Given the description of an element on the screen output the (x, y) to click on. 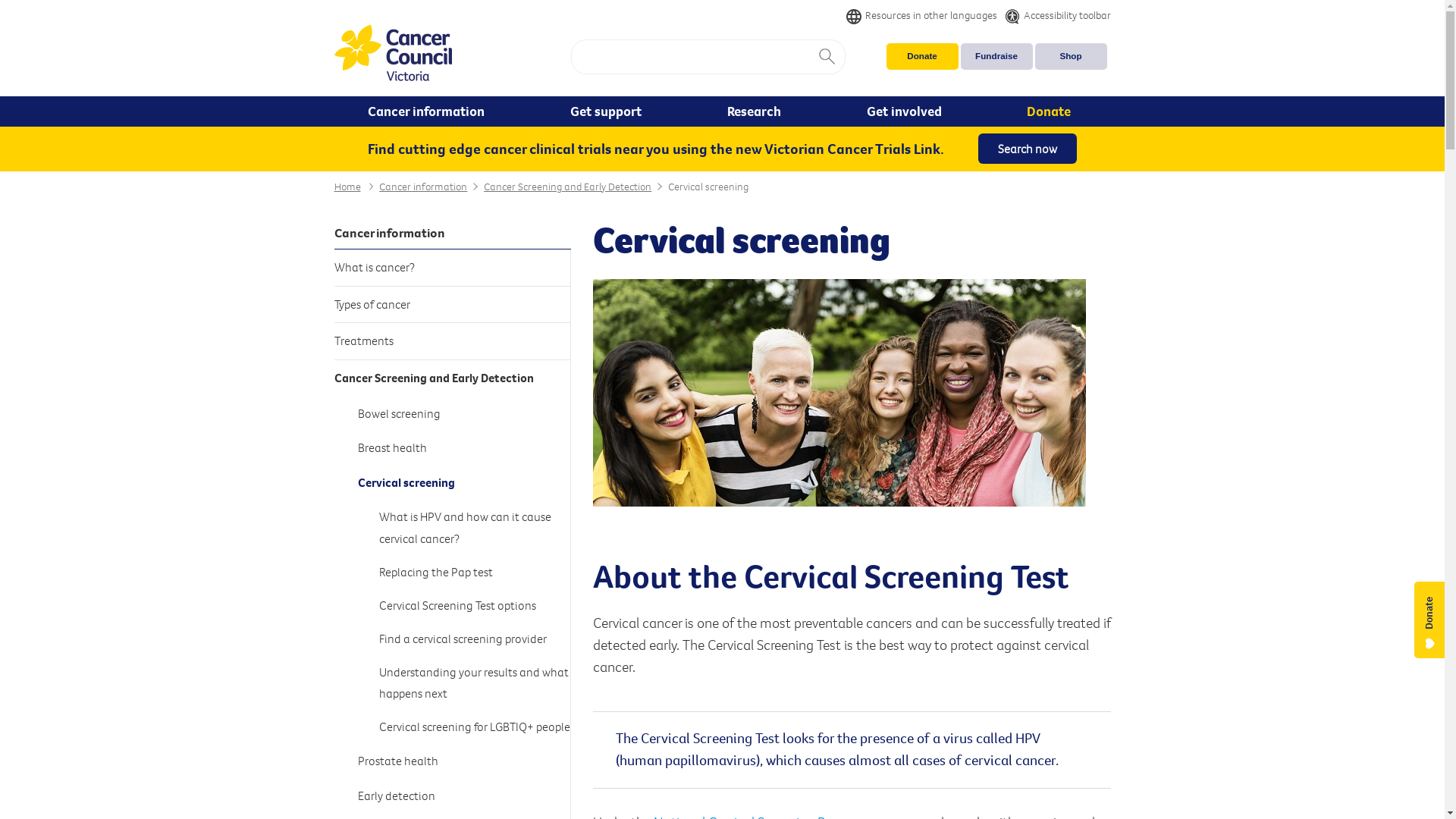
Understanding your results and what happens next Element type: text (475, 682)
Shop Element type: text (1070, 56)
Prostate health Element type: text (464, 760)
Return to the home page Element type: hover (392, 54)
Cancer Screening and Early Detection Element type: text (452, 378)
Cervical screening Element type: text (464, 482)
Cancer information Element type: text (423, 186)
Get involved Element type: text (906, 111)
Cervical Screening Test options Element type: text (475, 604)
Replacing the Pap test Element type: text (475, 571)
What is cancer? Element type: text (452, 267)
Treatments Element type: text (452, 341)
Cancer information Element type: text (452, 233)
Donate Element type: text (1052, 111)
What is HPV and how can it cause cervical cancer? Element type: text (475, 527)
Bowel screening Element type: text (464, 412)
Cancer Screening and Early Detection Element type: text (567, 186)
Search now Element type: text (1027, 148)
Get support Element type: text (608, 111)
Breast health Element type: text (464, 447)
Cancer information Element type: text (428, 111)
Early detection Element type: text (464, 795)
Find a cervical screening provider Element type: text (475, 638)
Fundraise Element type: text (996, 56)
Cervical screening for LGBTIQ+ people Element type: text (475, 726)
Home Element type: text (346, 186)
Research Element type: text (756, 111)
Resources in other languages Element type: text (921, 14)
Donate Element type: text (921, 56)
Search Element type: text (826, 56)
Types of cancer Element type: text (452, 304)
Cervical screening Element type: text (708, 186)
Accessibility toolbar Element type: text (1053, 14)
